Given the description of an element on the screen output the (x, y) to click on. 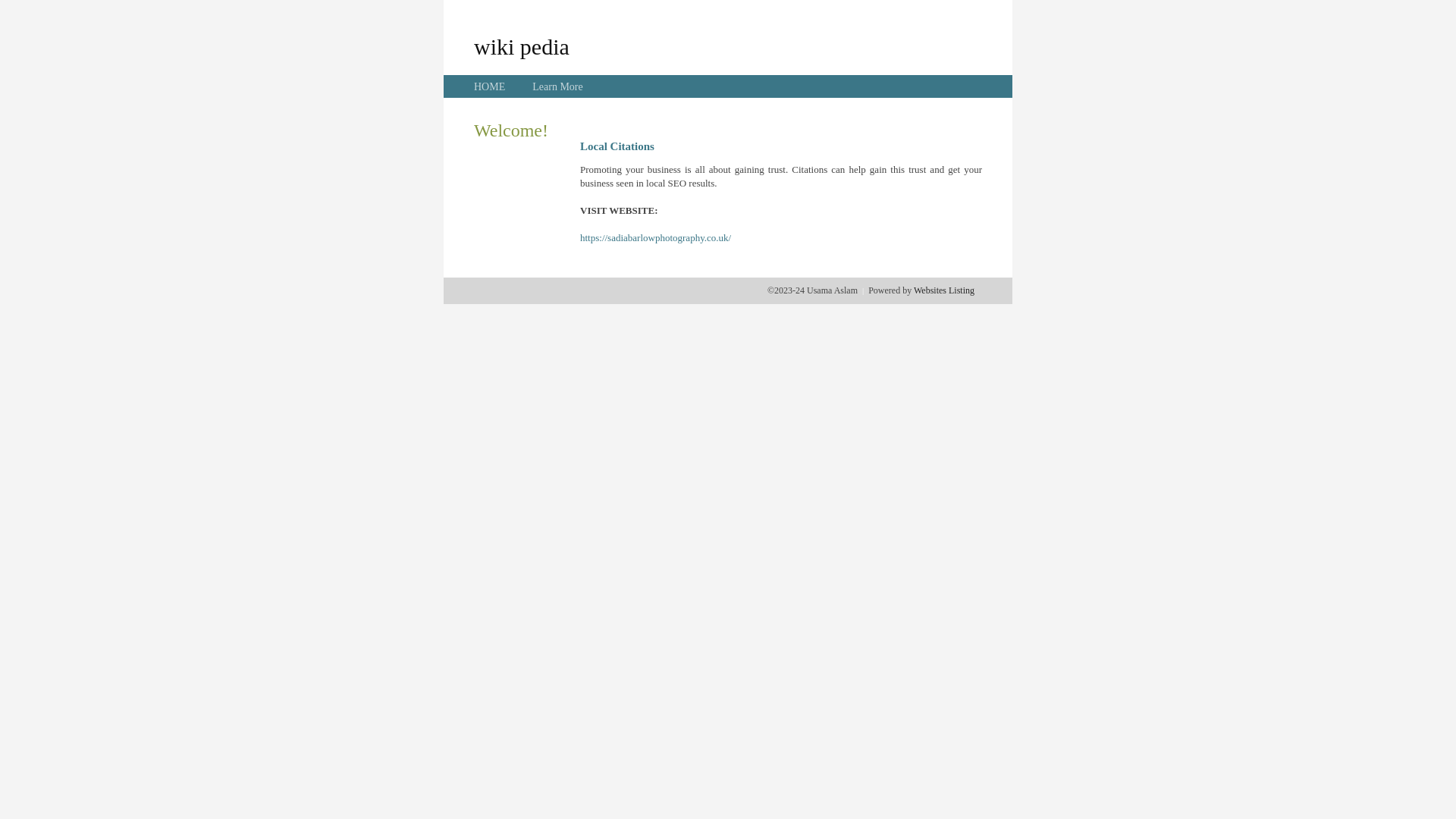
HOME Element type: text (489, 86)
wiki pedia Element type: text (521, 46)
Websites Listing Element type: text (943, 290)
https://sadiabarlowphotography.co.uk/ Element type: text (655, 237)
Learn More Element type: text (557, 86)
